Given the description of an element on the screen output the (x, y) to click on. 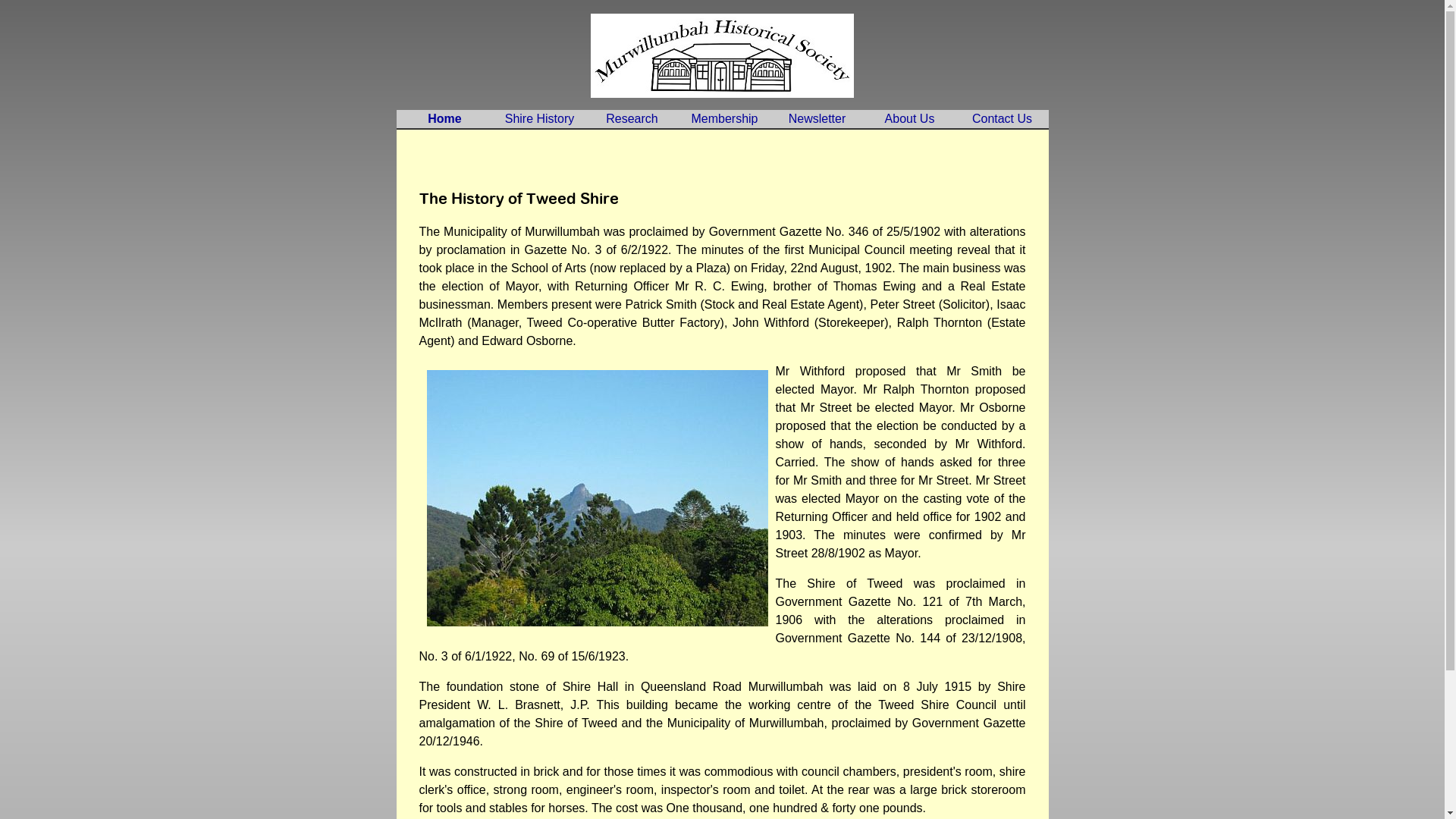
Newsletter Element type: text (816, 118)
Membership Element type: text (723, 118)
Contact Us Element type: text (1001, 118)
Shire History Element type: text (538, 118)
Home Element type: text (443, 118)
About Us Element type: text (908, 118)
Research Element type: text (631, 118)
